Given the description of an element on the screen output the (x, y) to click on. 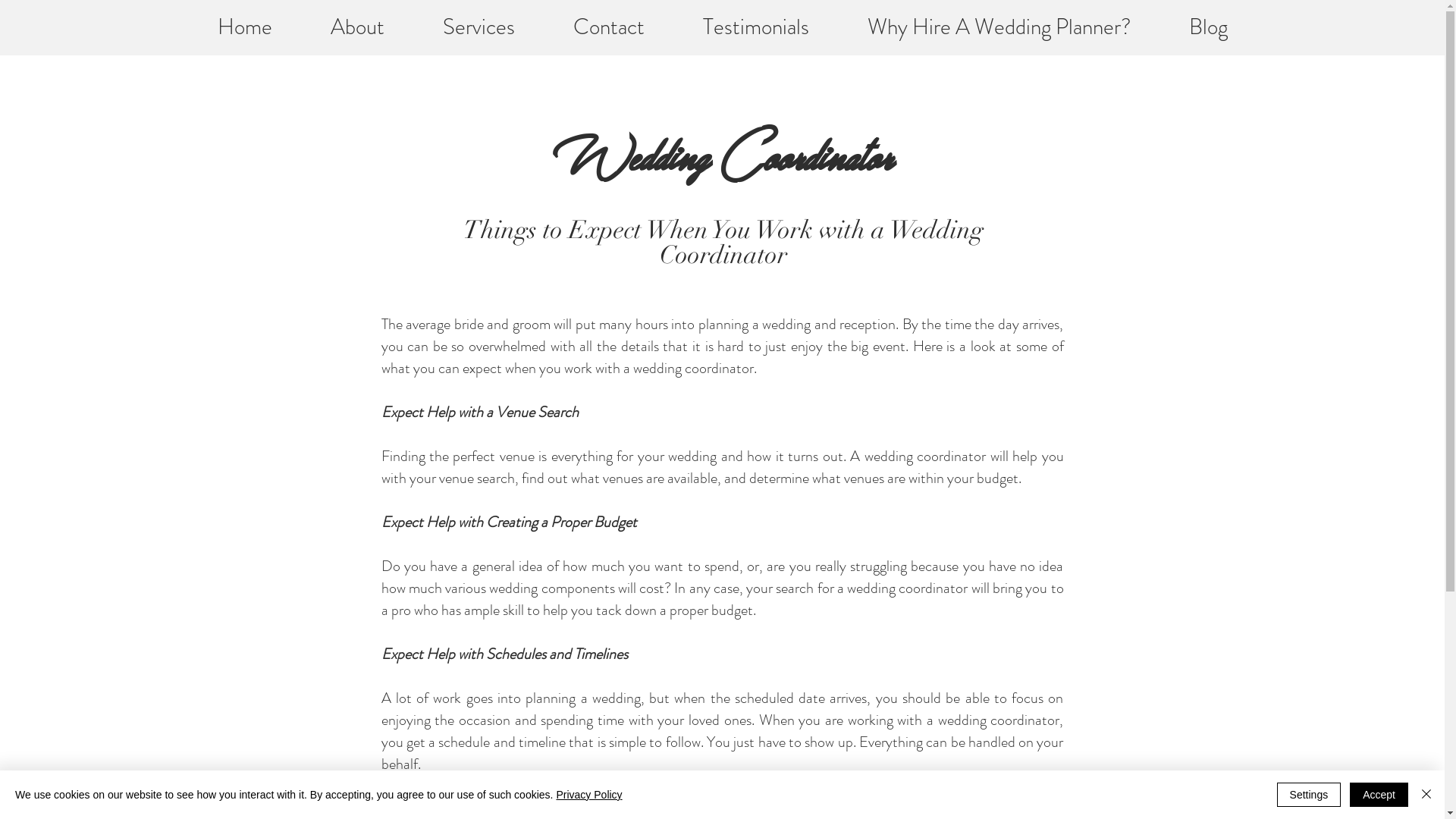
Contact Element type: text (609, 27)
Home Element type: text (244, 27)
Settings Element type: text (1309, 794)
About Element type: text (357, 27)
Accept Element type: text (1378, 794)
Why Hire A Wedding Planner? Element type: text (999, 27)
Services Element type: text (479, 27)
Blog Element type: text (1208, 27)
Testimonials Element type: text (755, 27)
Privacy Policy Element type: text (588, 794)
